Given the description of an element on the screen output the (x, y) to click on. 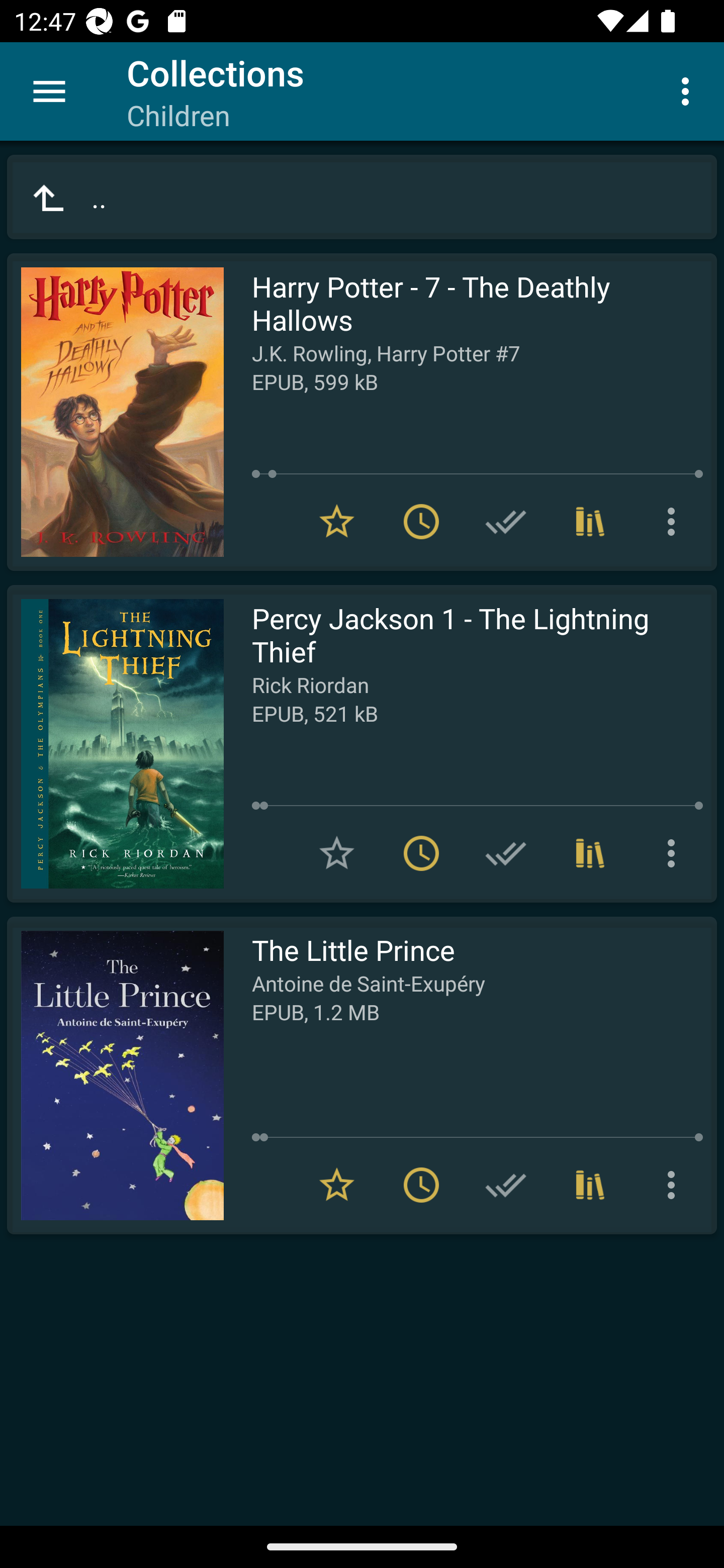
Menu (49, 91)
More options (688, 90)
.. (361, 197)
Read Harry Potter - 7 - The Deathly Hallows (115, 412)
Remove from Favorites (336, 521)
Remove from To read (421, 521)
Add to Have read (505, 521)
Collections (3) (590, 521)
More options (674, 521)
Read Percy Jackson 1 - The Lightning Thief (115, 743)
Add to Favorites (336, 852)
Remove from To read (421, 852)
Add to Have read (505, 852)
Collections (1) (590, 852)
More options (674, 852)
Read The Little Prince (115, 1075)
Remove from Favorites (336, 1185)
Remove from To read (421, 1185)
Add to Have read (505, 1185)
Collections (1) (590, 1185)
More options (674, 1185)
